Given the description of an element on the screen output the (x, y) to click on. 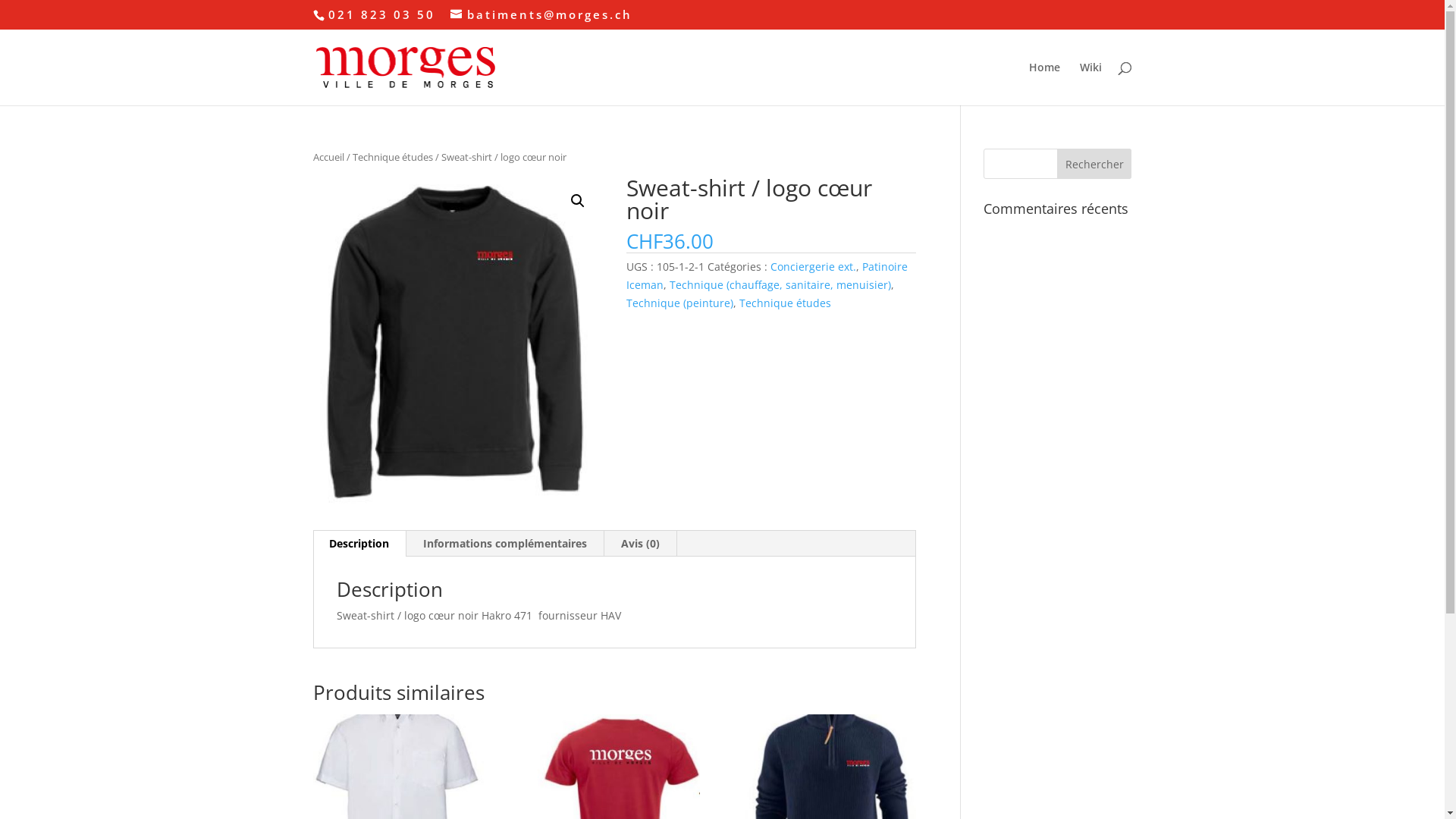
Wiki Element type: text (1090, 83)
Conciergerie ext. Element type: text (813, 266)
Rechercher Element type: text (1094, 163)
Accueil Element type: text (327, 156)
Patinoire Iceman Element type: text (766, 275)
batiments@morges.ch Element type: text (541, 13)
Technique (chauffage, sanitaire, menuisier) Element type: text (780, 284)
Description Element type: text (358, 543)
Home Element type: text (1043, 83)
Technique (peinture) Element type: text (679, 302)
sweat_noir Element type: hover (457, 342)
Avis (0) Element type: text (639, 543)
